Given the description of an element on the screen output the (x, y) to click on. 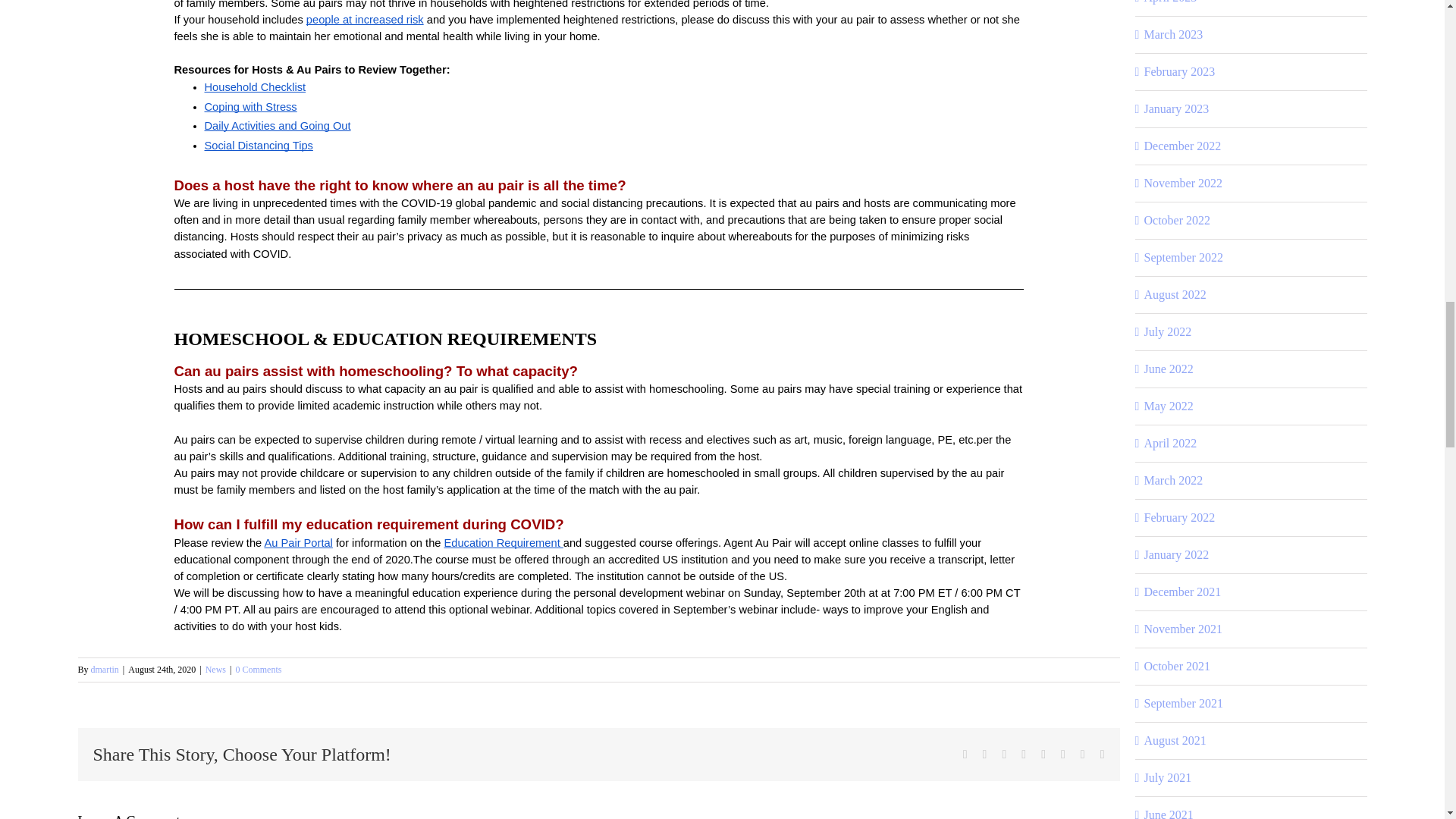
Posts by dmartin (104, 669)
